Given the description of an element on the screen output the (x, y) to click on. 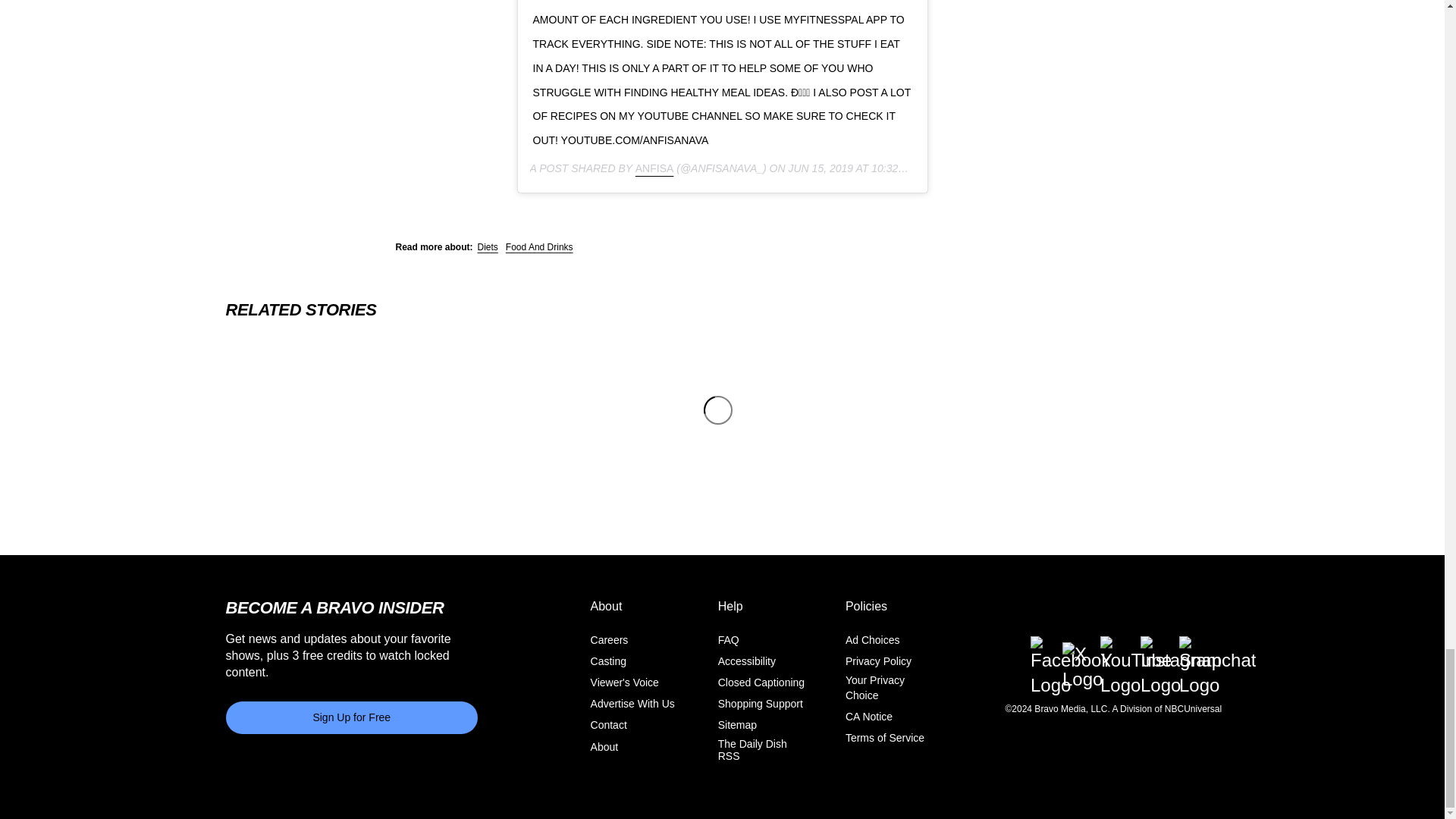
Food And Drinks (539, 246)
Diets (487, 246)
ANFISA (654, 168)
Advertise With Us (633, 703)
